Given the description of an element on the screen output the (x, y) to click on. 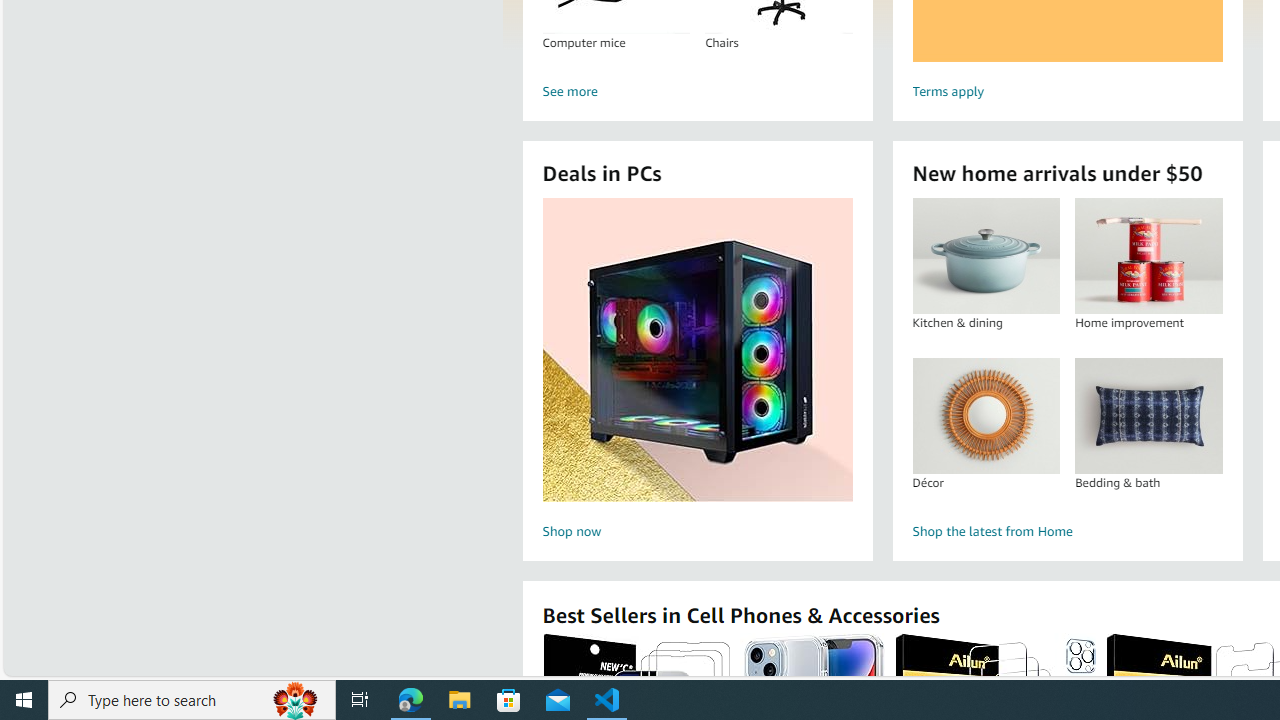
Ports (667, 228)
Shop the latest from Home (1066, 532)
Kitchen & dining (986, 256)
Manage (24, 633)
